Given the description of an element on the screen output the (x, y) to click on. 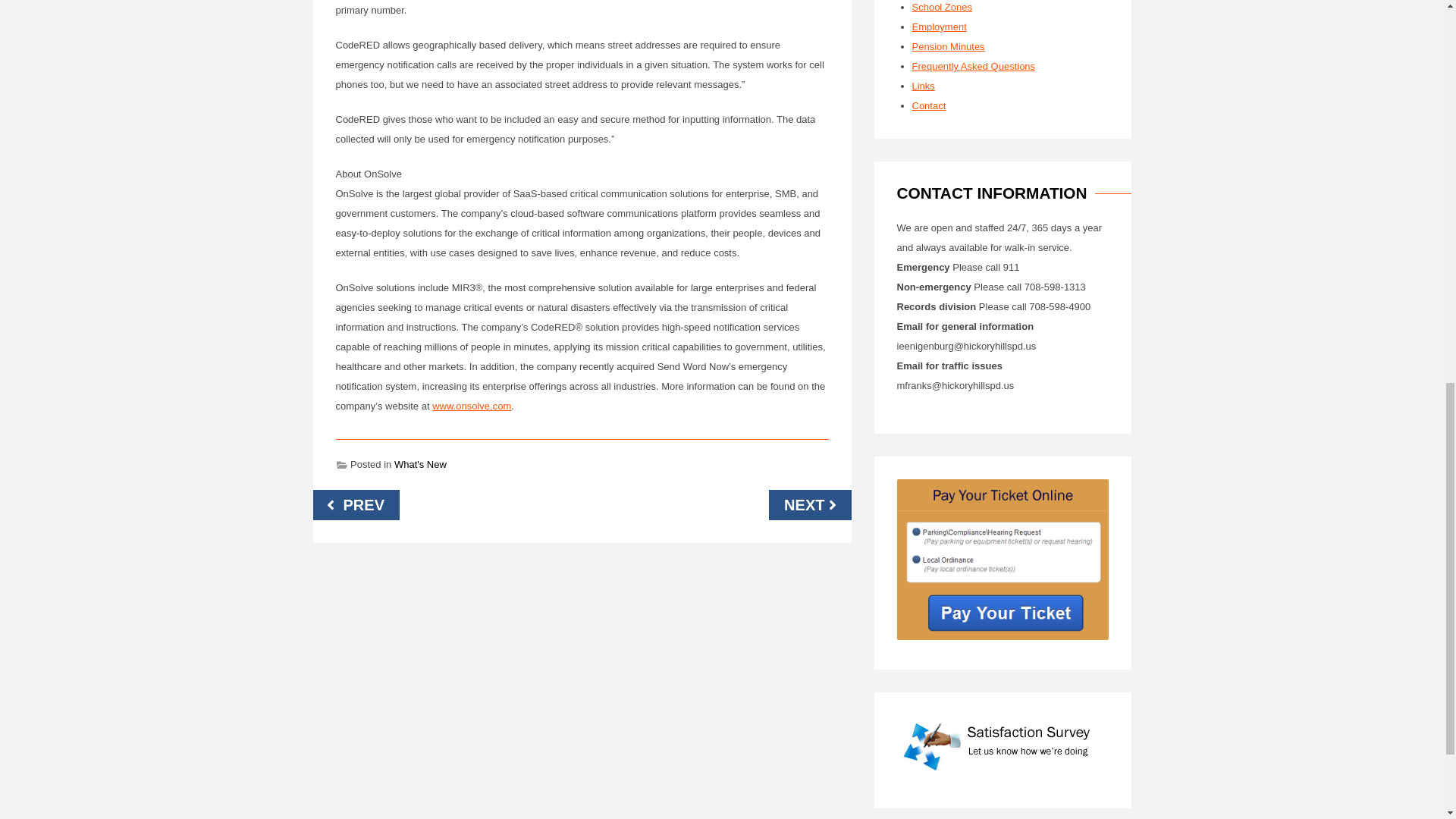
School Zones (941, 7)
What's New (420, 464)
Contact (927, 105)
Frequently Asked Questions (973, 66)
Links (922, 85)
Pension Minutes (947, 46)
PREV (355, 504)
Employment (938, 26)
www.onsolve.com (471, 405)
NEXT (809, 504)
